Given the description of an element on the screen output the (x, y) to click on. 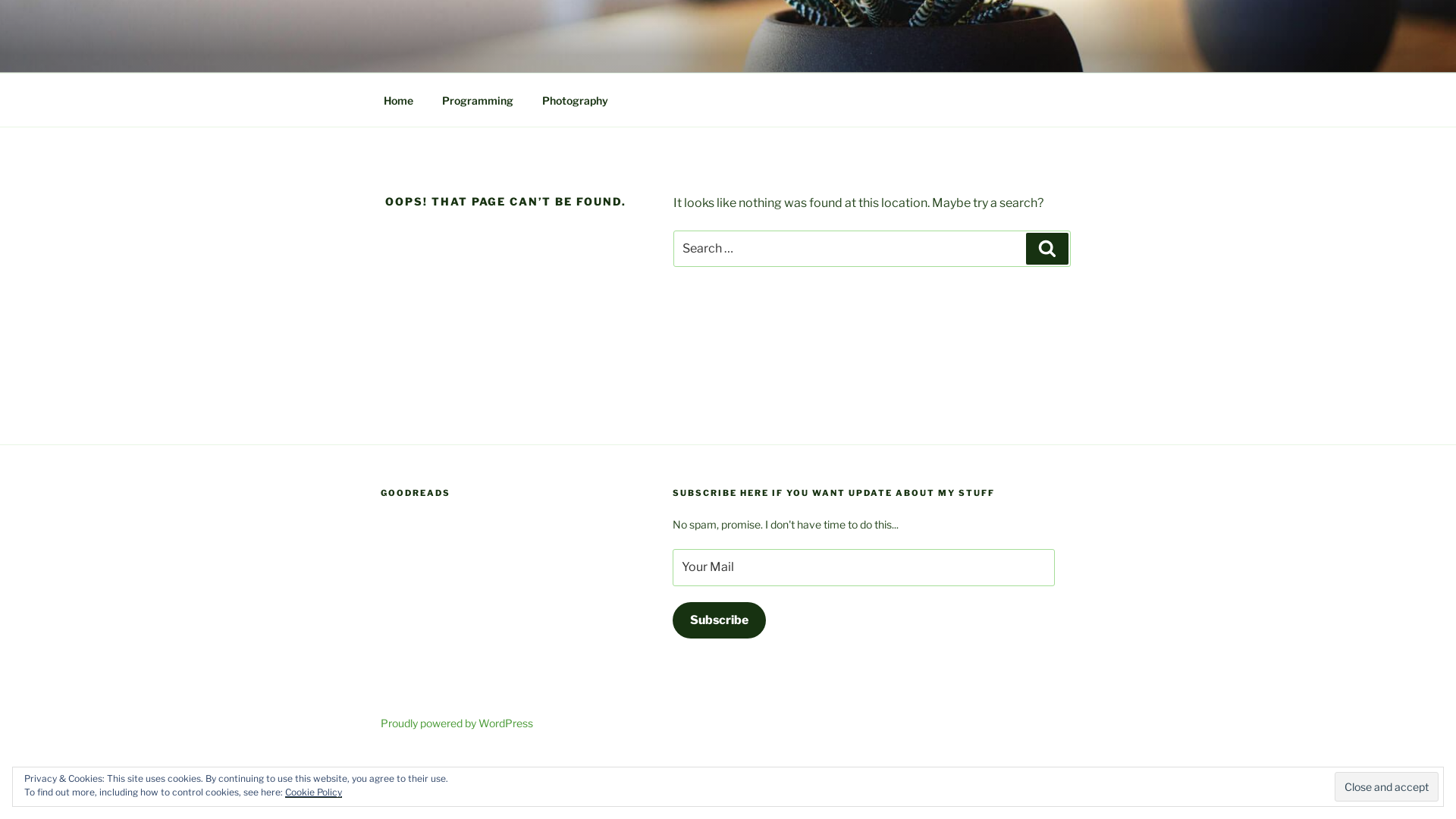
MDP Element type: text (421, 52)
Photography Element type: text (574, 100)
Proudly powered by WordPress Element type: text (456, 722)
Close and accept Element type: text (1386, 786)
Subscribe Element type: text (718, 620)
Search Element type: text (1047, 248)
Home Element type: text (398, 100)
Programming Element type: text (477, 100)
Cookie Policy Element type: text (313, 791)
